Given the description of an element on the screen output the (x, y) to click on. 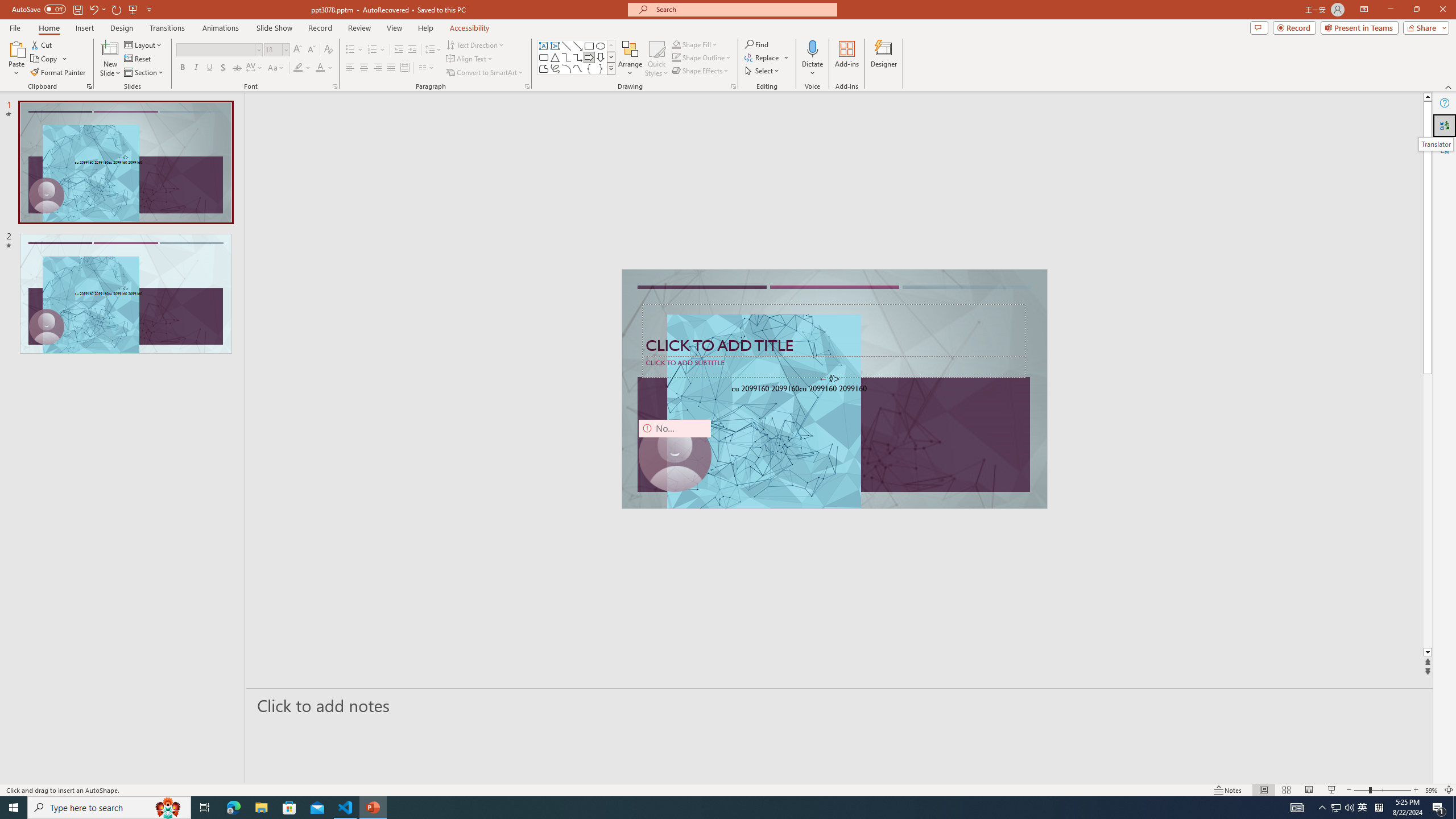
Subtitle TextBox (834, 366)
